Given the description of an element on the screen output the (x, y) to click on. 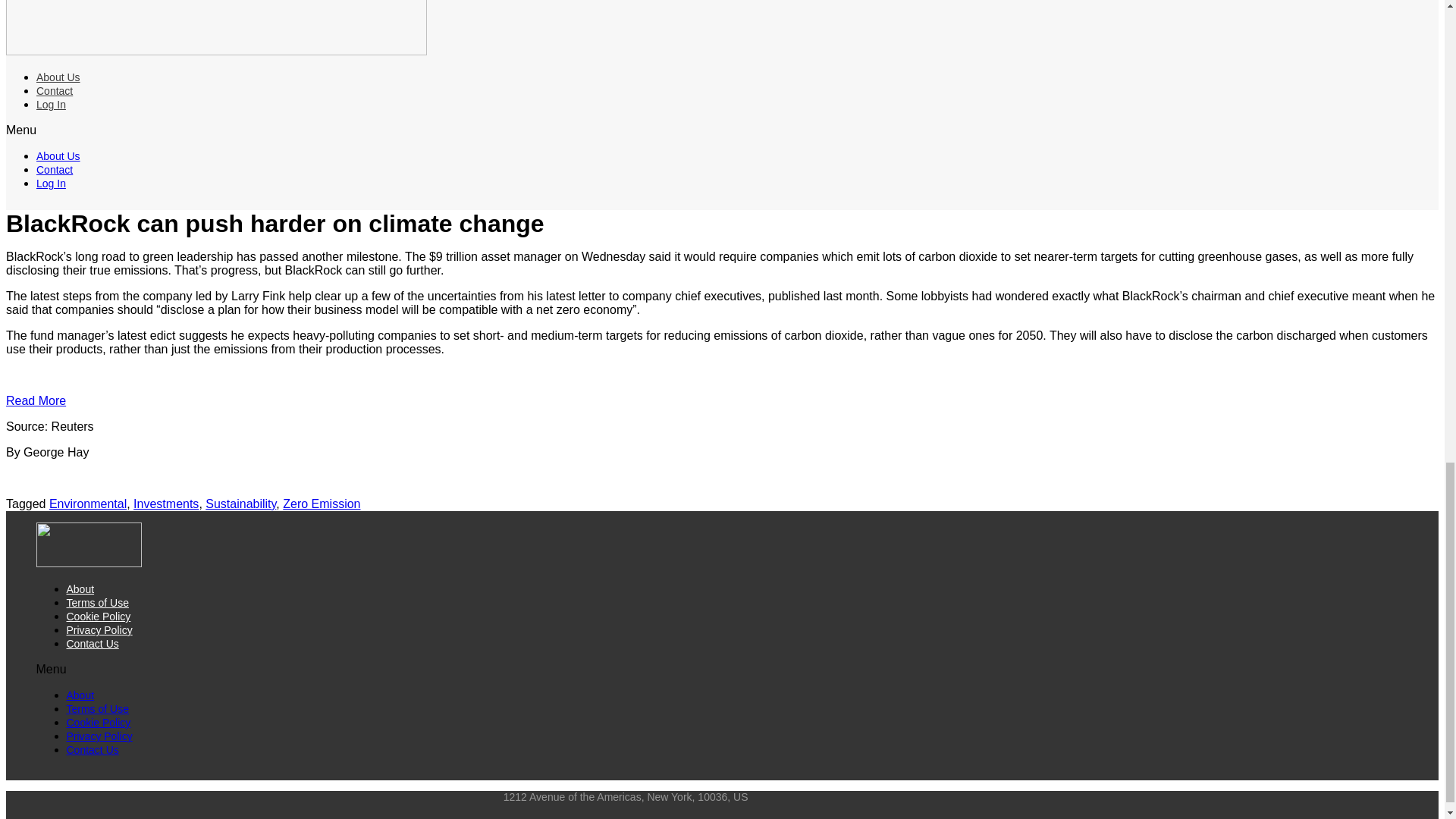
Contact (54, 169)
Read More (35, 400)
Terms of Use (97, 708)
Zero Emission (320, 503)
Privacy Policy (99, 736)
About (80, 695)
About (80, 589)
Contact Us (92, 749)
About Us (58, 77)
Contact Us (92, 644)
Terms of Use (97, 603)
Contact (54, 91)
Sustainability (240, 503)
Investments (165, 503)
Cookie Policy (98, 722)
